Given the description of an element on the screen output the (x, y) to click on. 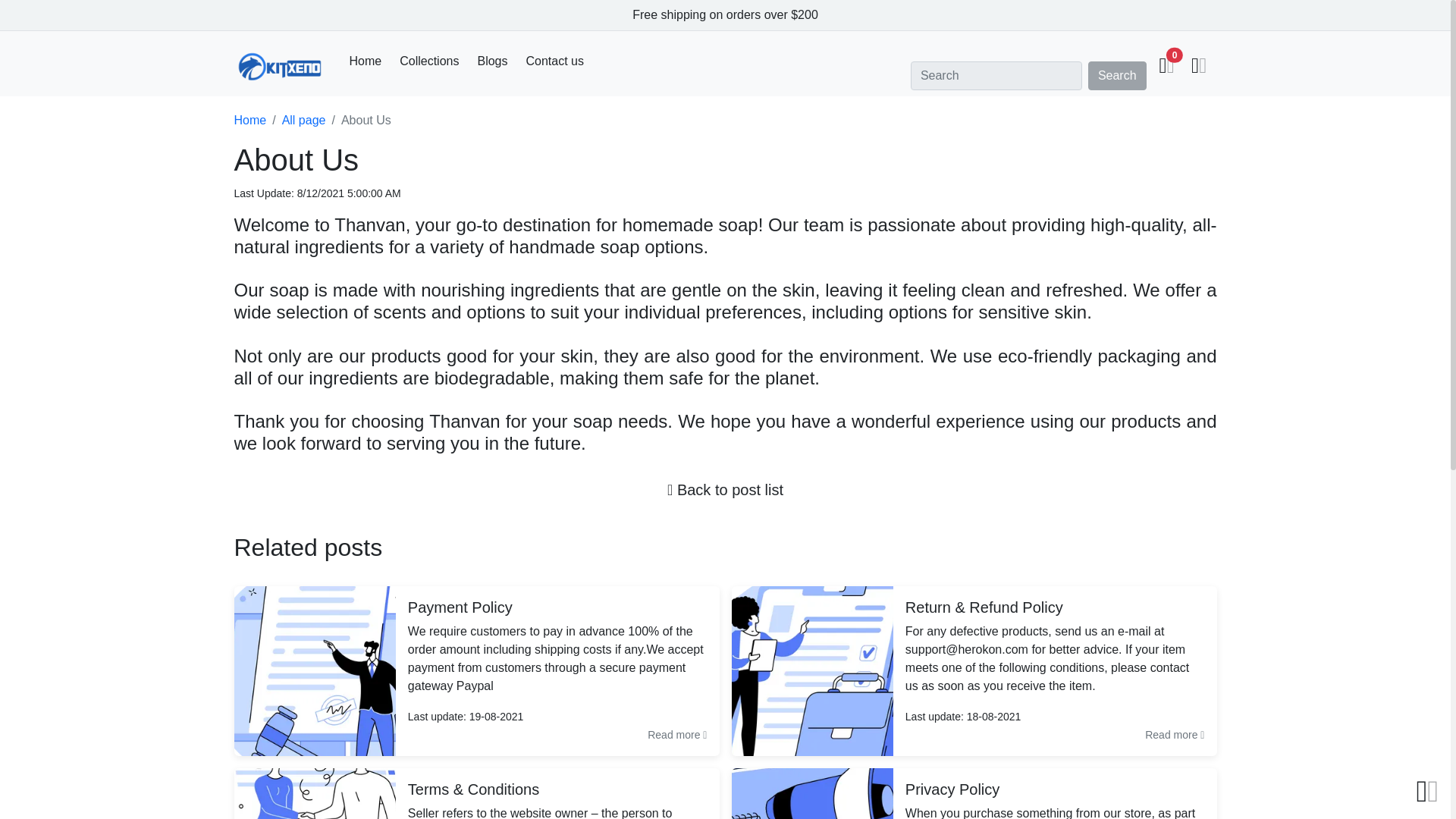
Home (249, 119)
Home (364, 60)
KitXeno Store (278, 66)
Blogs (491, 60)
Search (1117, 75)
All page (304, 119)
My acount (1197, 66)
Contact us (554, 60)
Back to post list (725, 489)
